Given the description of an element on the screen output the (x, y) to click on. 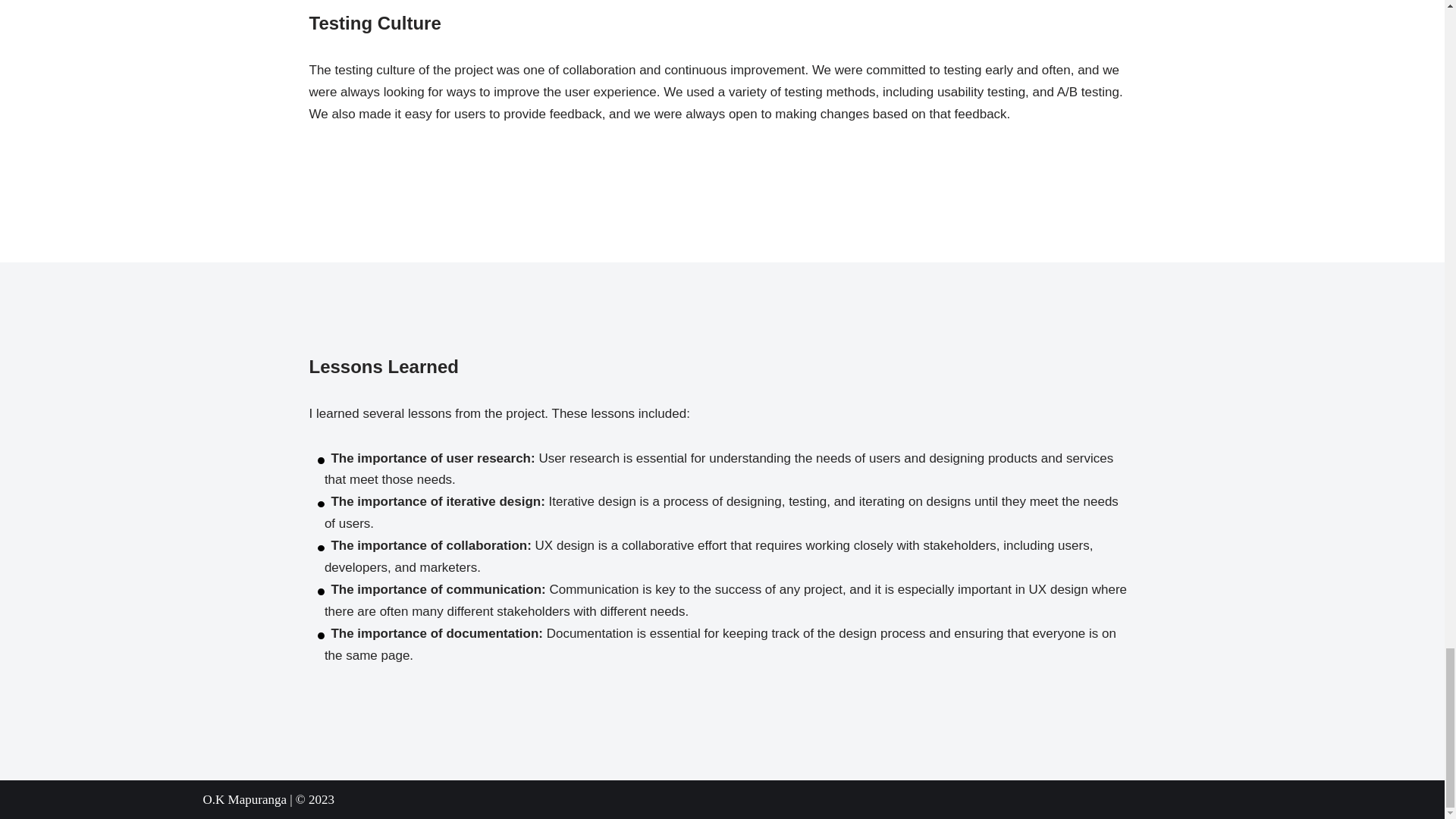
O.K Mapuranga (244, 799)
